Given the description of an element on the screen output the (x, y) to click on. 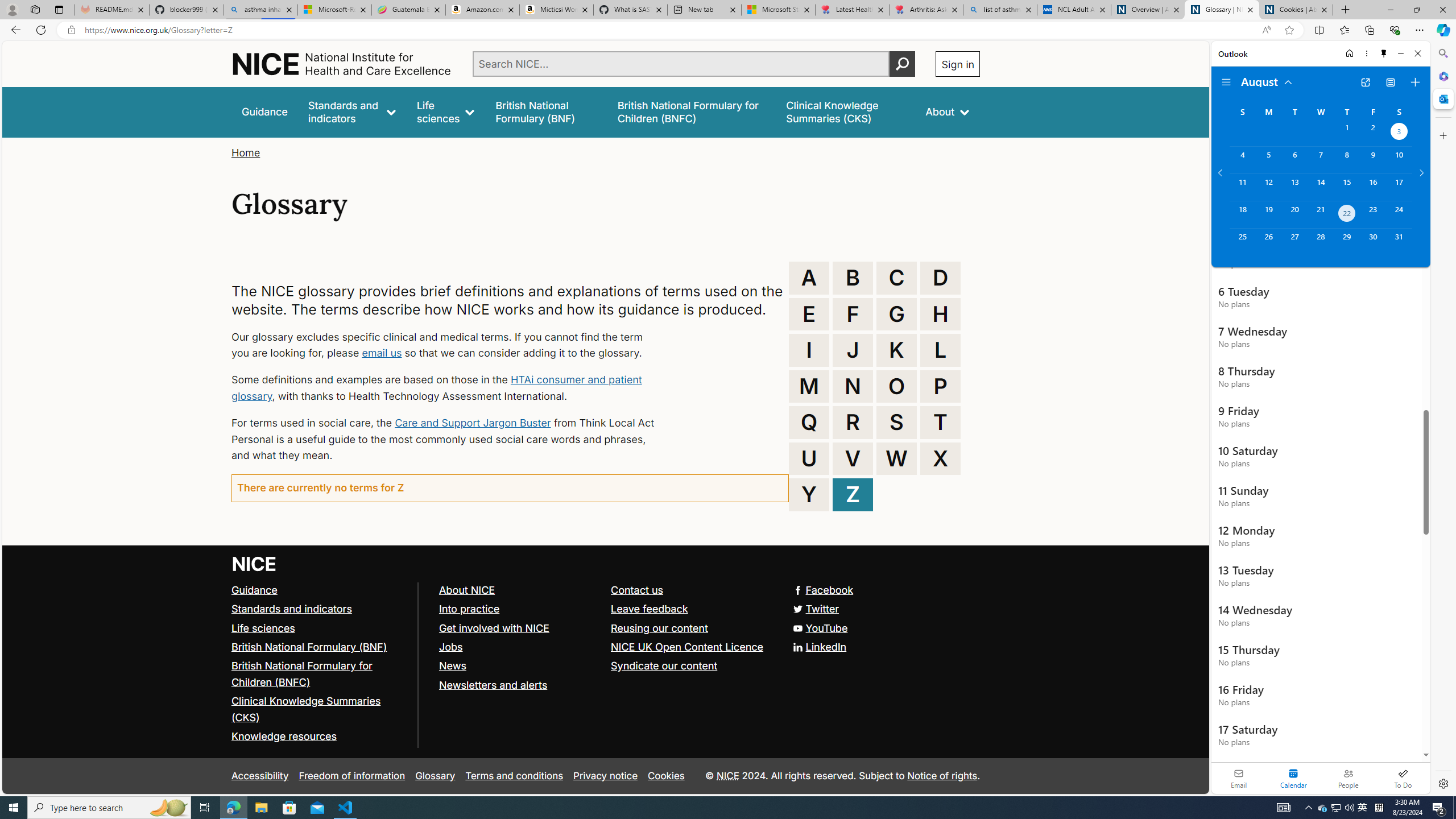
S (896, 422)
Monday, August 19, 2024.  (1268, 214)
P (940, 385)
H (940, 313)
I (809, 350)
Saturday, August 3, 2024. Date selected.  (1399, 132)
Privacy notice (605, 775)
Friday, August 30, 2024.  (1372, 241)
British National Formulary for Children (BNFC) (319, 674)
